Given the description of an element on the screen output the (x, y) to click on. 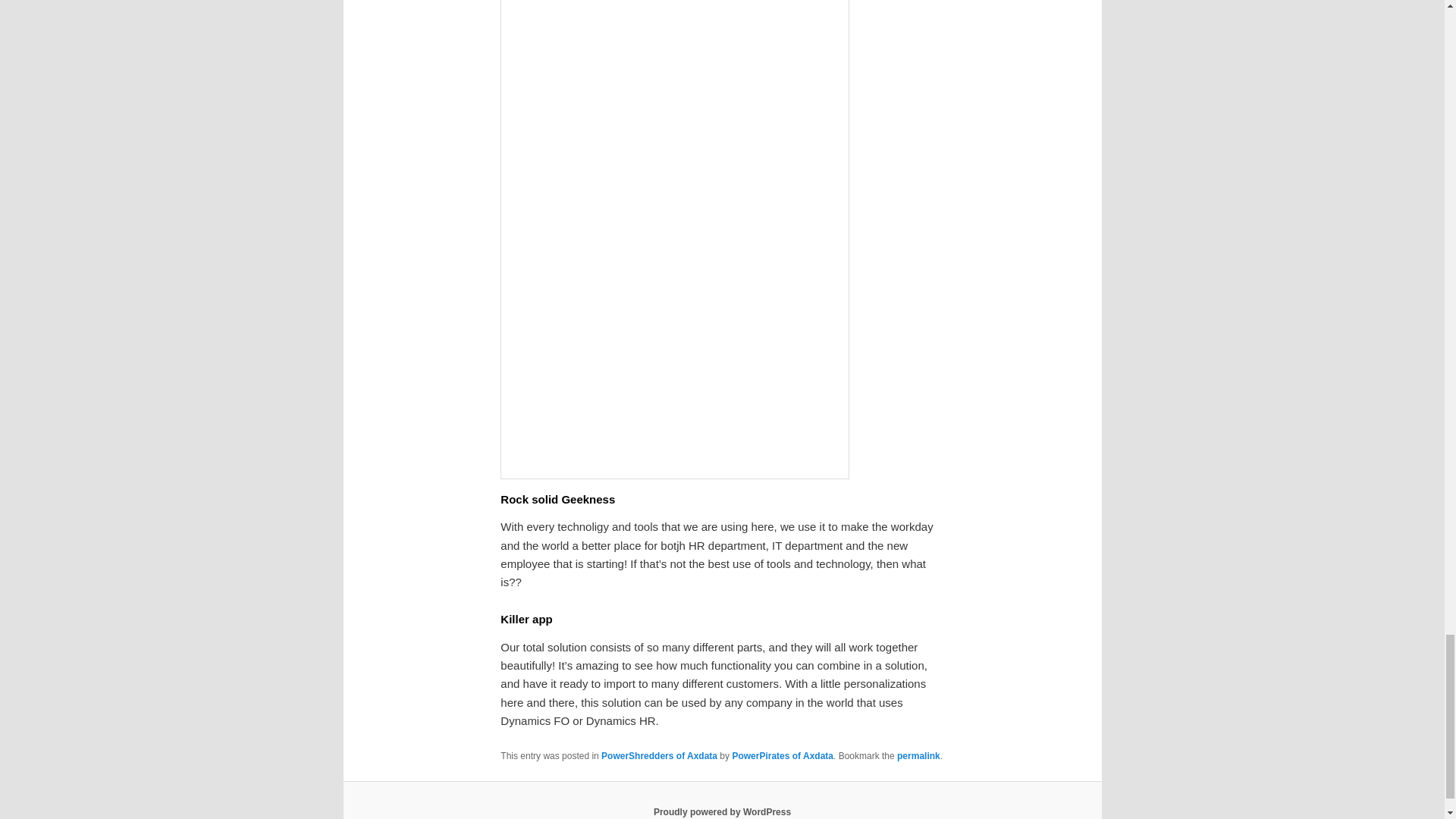
Semantic Personal Publishing Platform (721, 811)
